Given the description of an element on the screen output the (x, y) to click on. 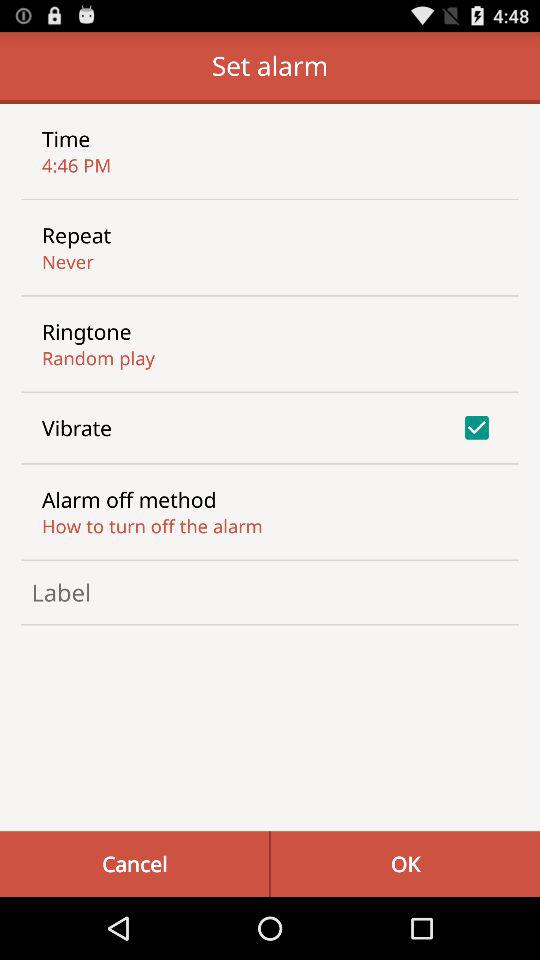
click item next to vibrate item (476, 427)
